Given the description of an element on the screen output the (x, y) to click on. 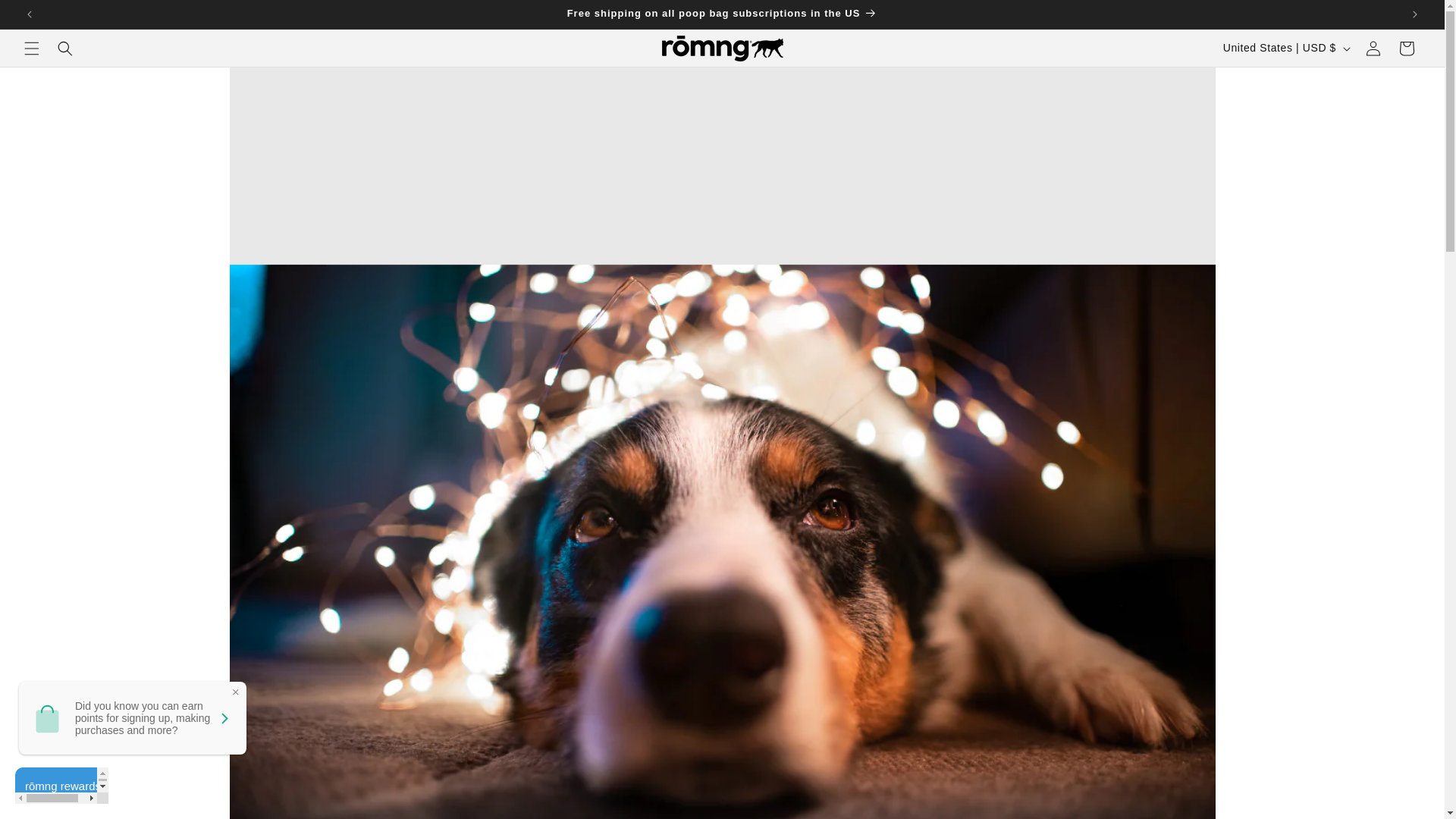
LoyaltyLion beacon (60, 785)
Cart (1406, 48)
Free shipping on all poop bag subscriptions in the US (721, 14)
Log in (1373, 48)
Skip to content (45, 17)
